Given the description of an element on the screen output the (x, y) to click on. 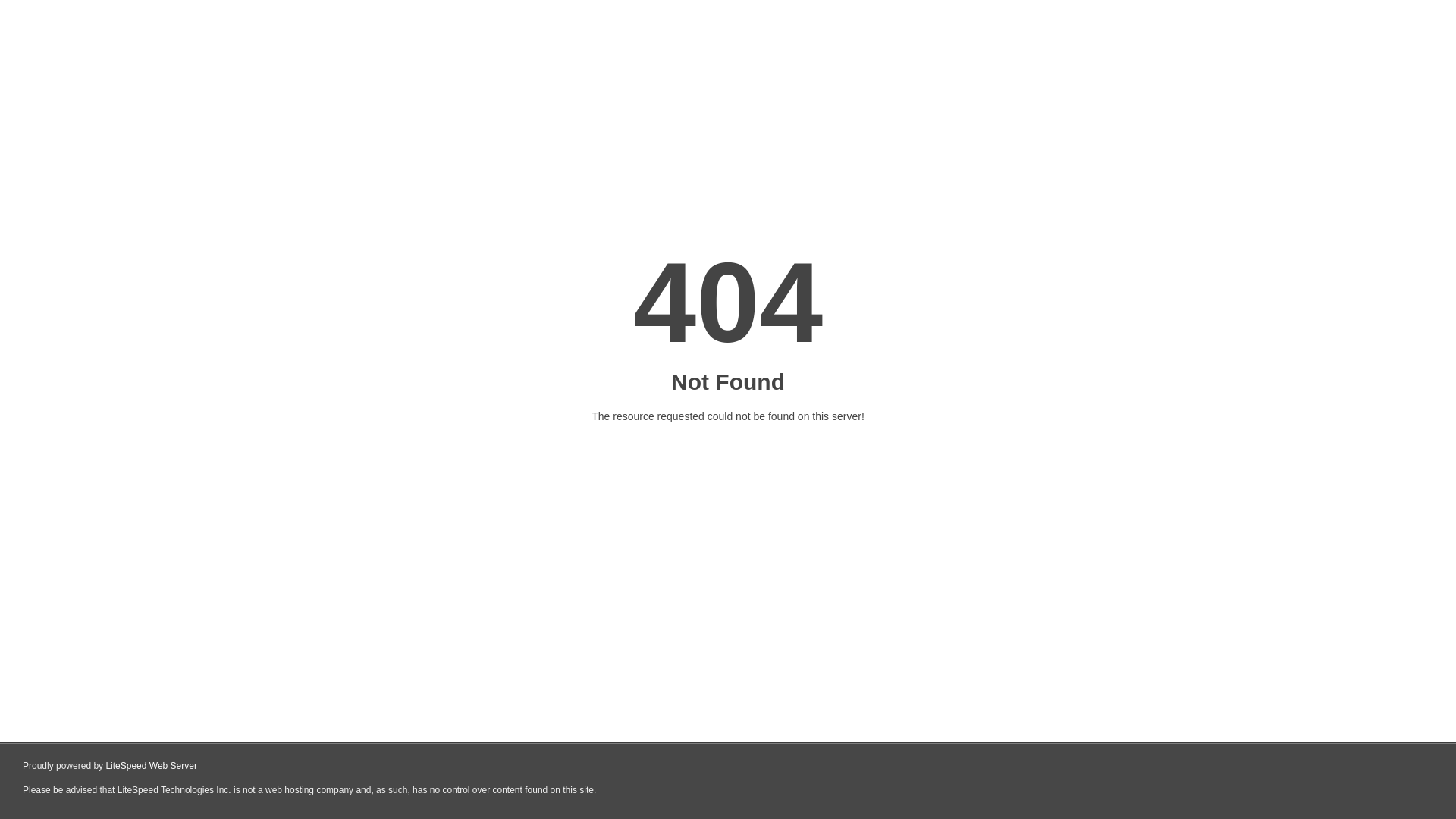
LiteSpeed Web Server Element type: text (151, 765)
